Given the description of an element on the screen output the (x, y) to click on. 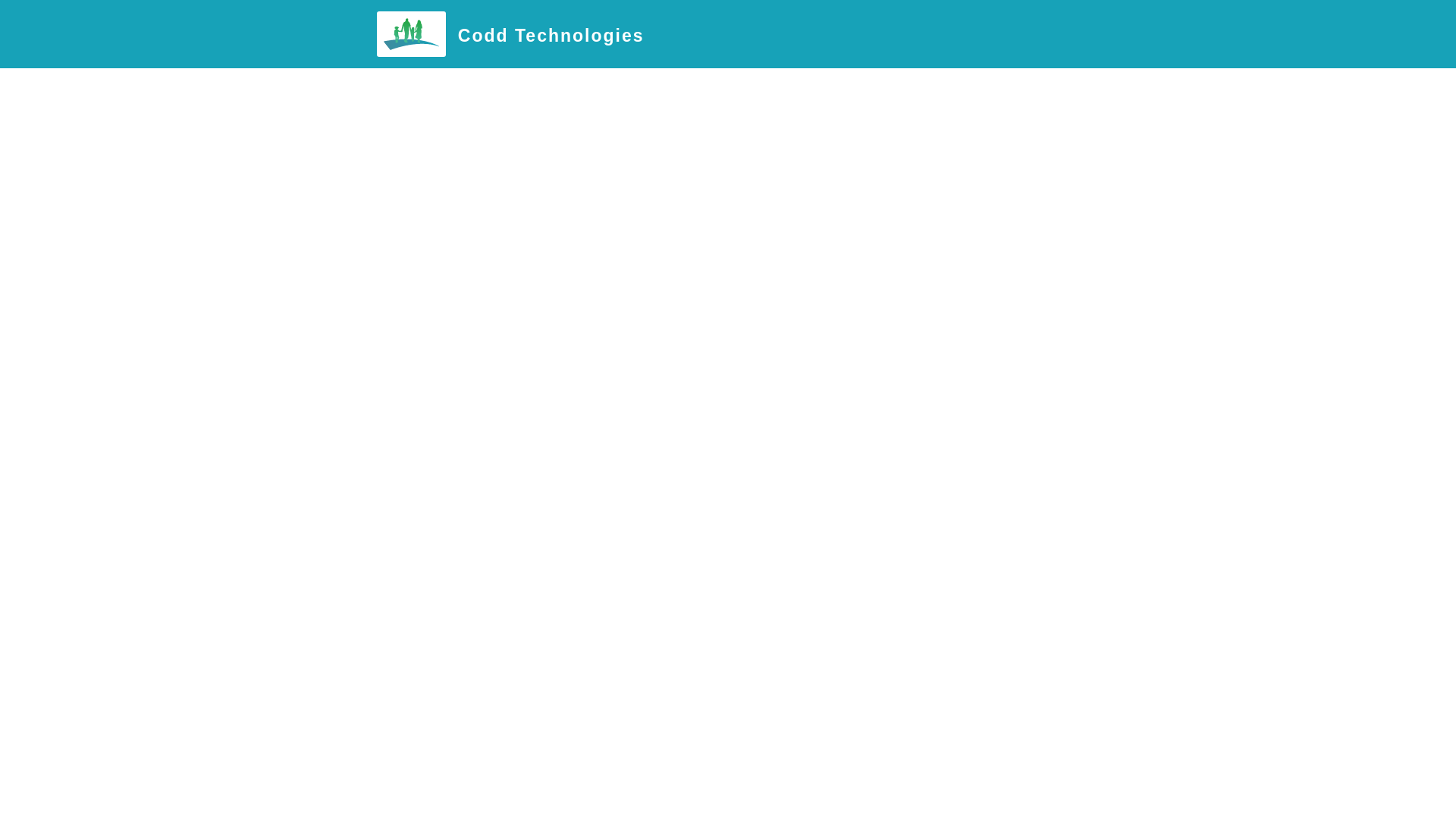
Codd Technologies Element type: text (551, 35)
Codd Technologies Element type: hover (410, 33)
